Given the description of an element on the screen output the (x, y) to click on. 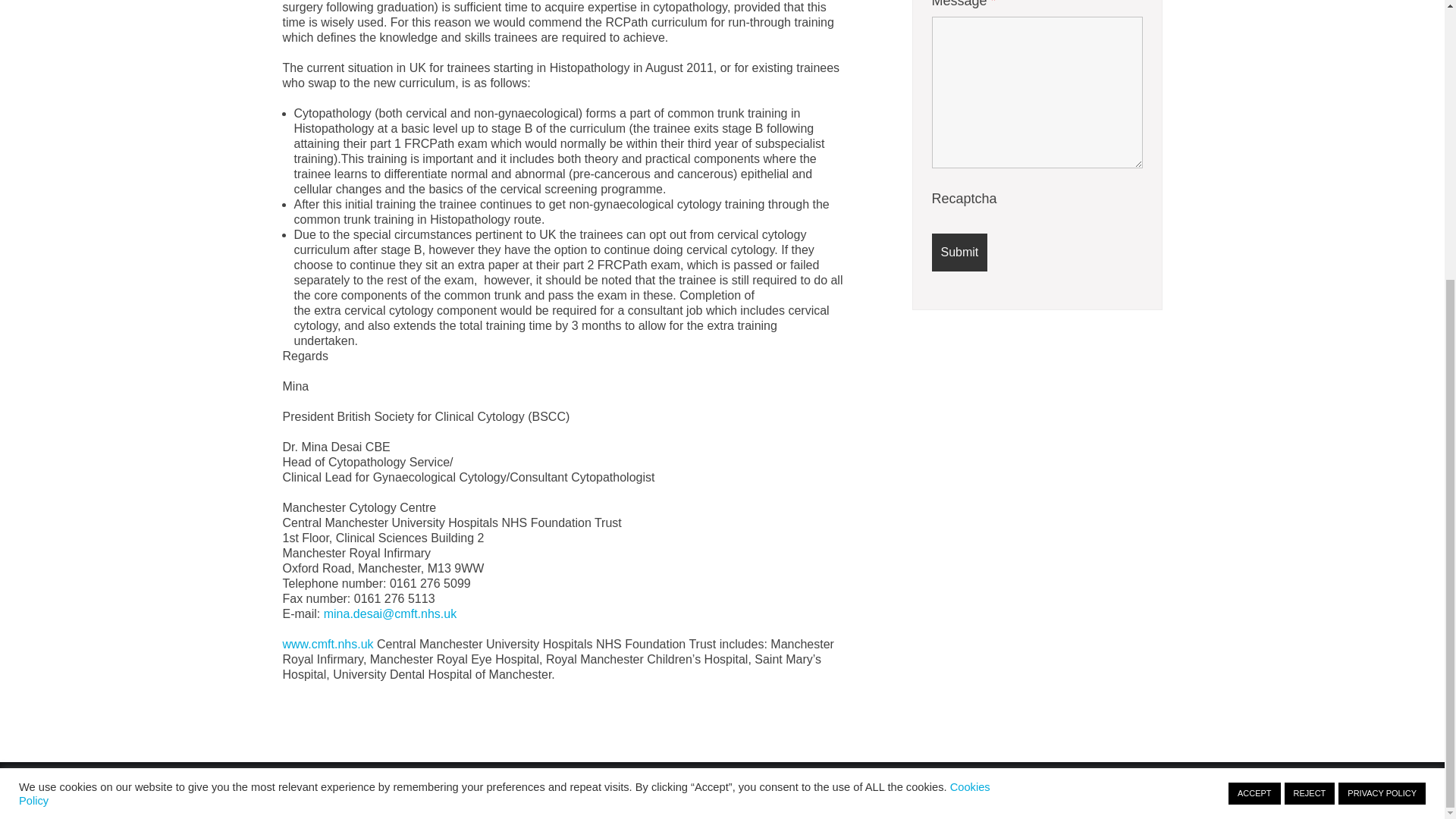
Submit (959, 252)
